Given the description of an element on the screen output the (x, y) to click on. 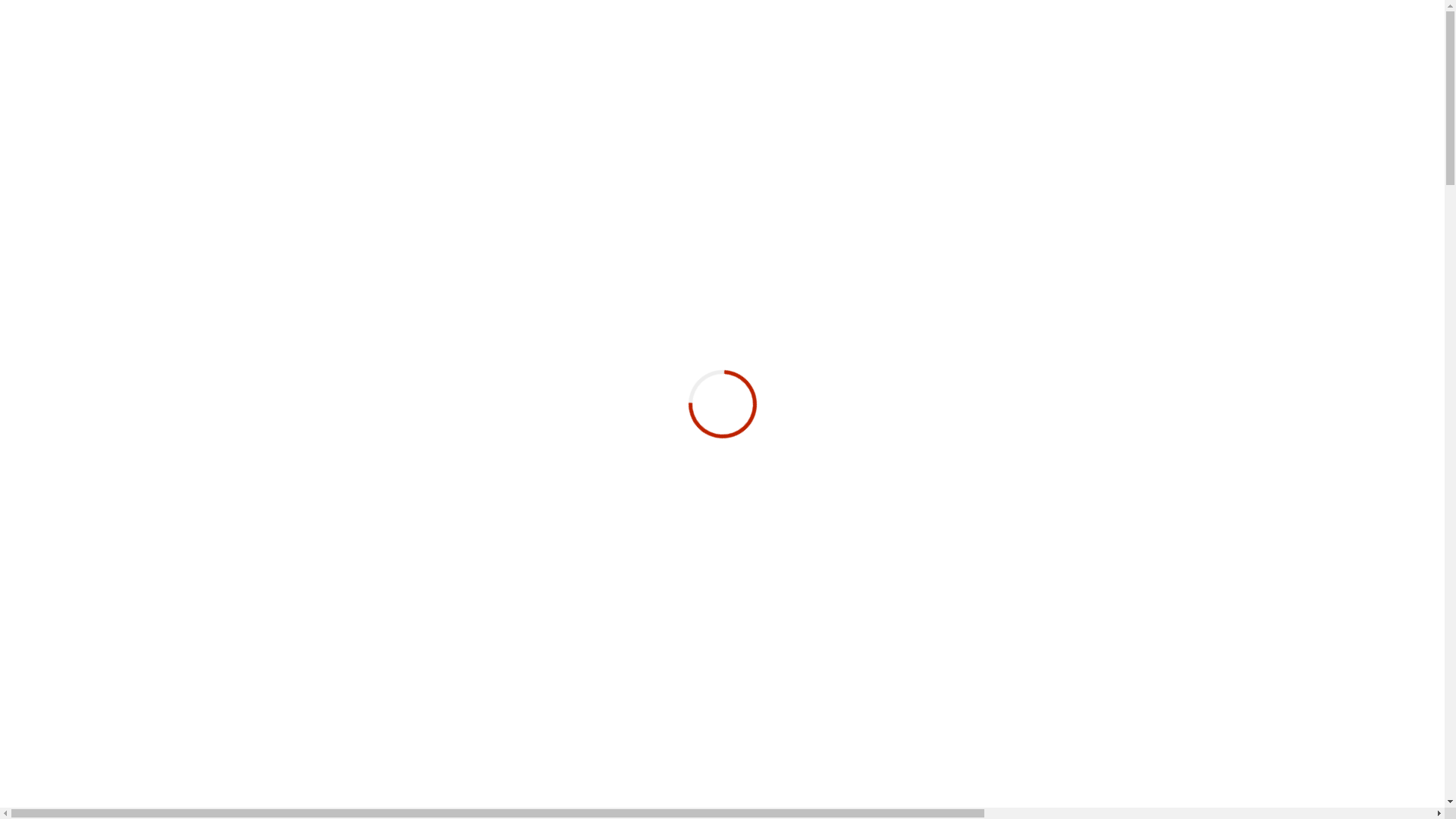
RESERVIERUNG Element type: text (95, 372)
KONTAKT Element type: text (67, 338)
JOBS Element type: text (54, 324)
HOME Element type: text (57, 283)
MEHR BILDER Element type: text (728, 785)
RESERVIEREN Element type: text (82, 152)
GALLERY Element type: text (66, 311)
LOGIN Element type: text (58, 351)
